Given the description of an element on the screen output the (x, y) to click on. 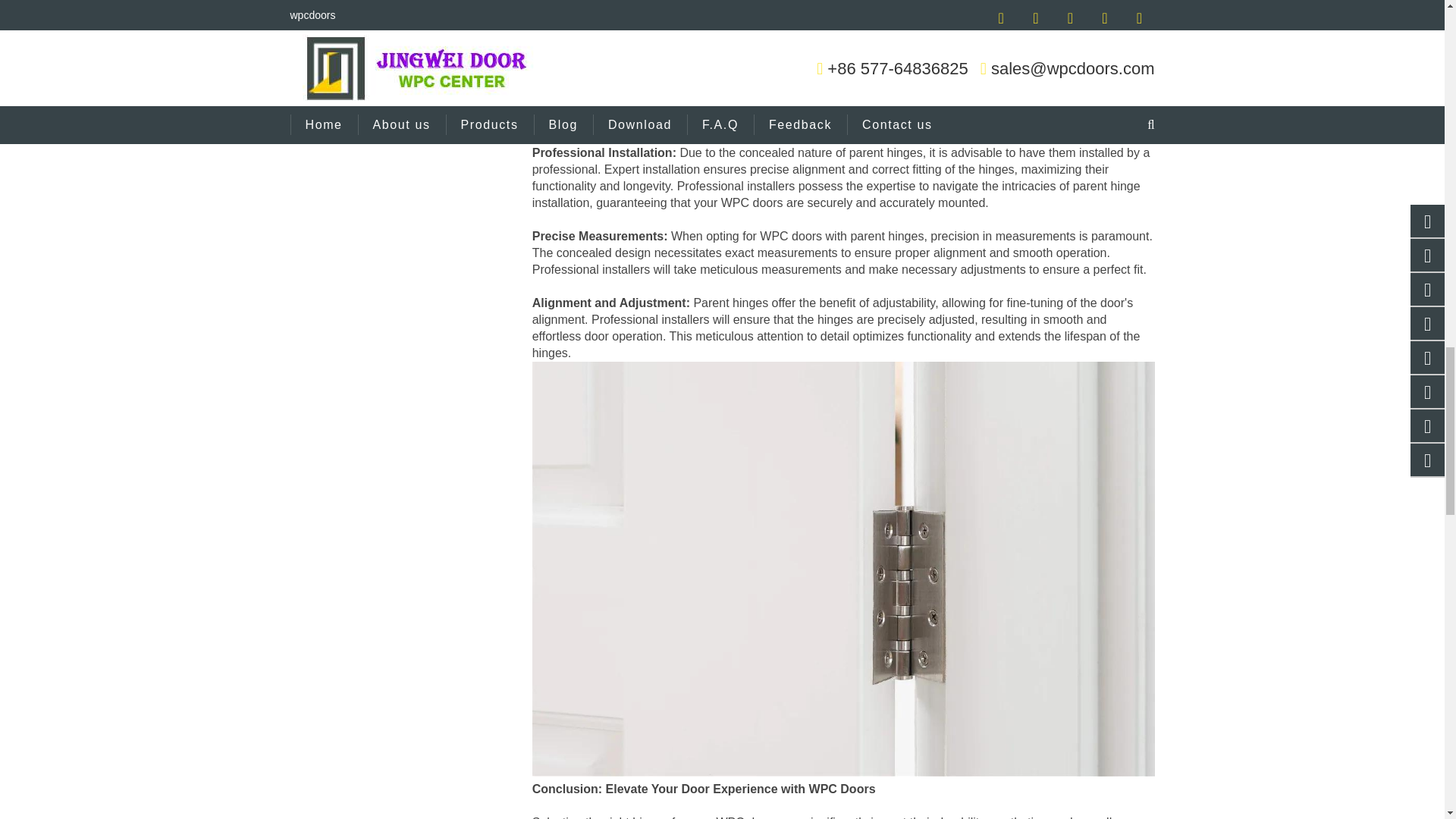
WPC doors (791, 236)
